Given the description of an element on the screen output the (x, y) to click on. 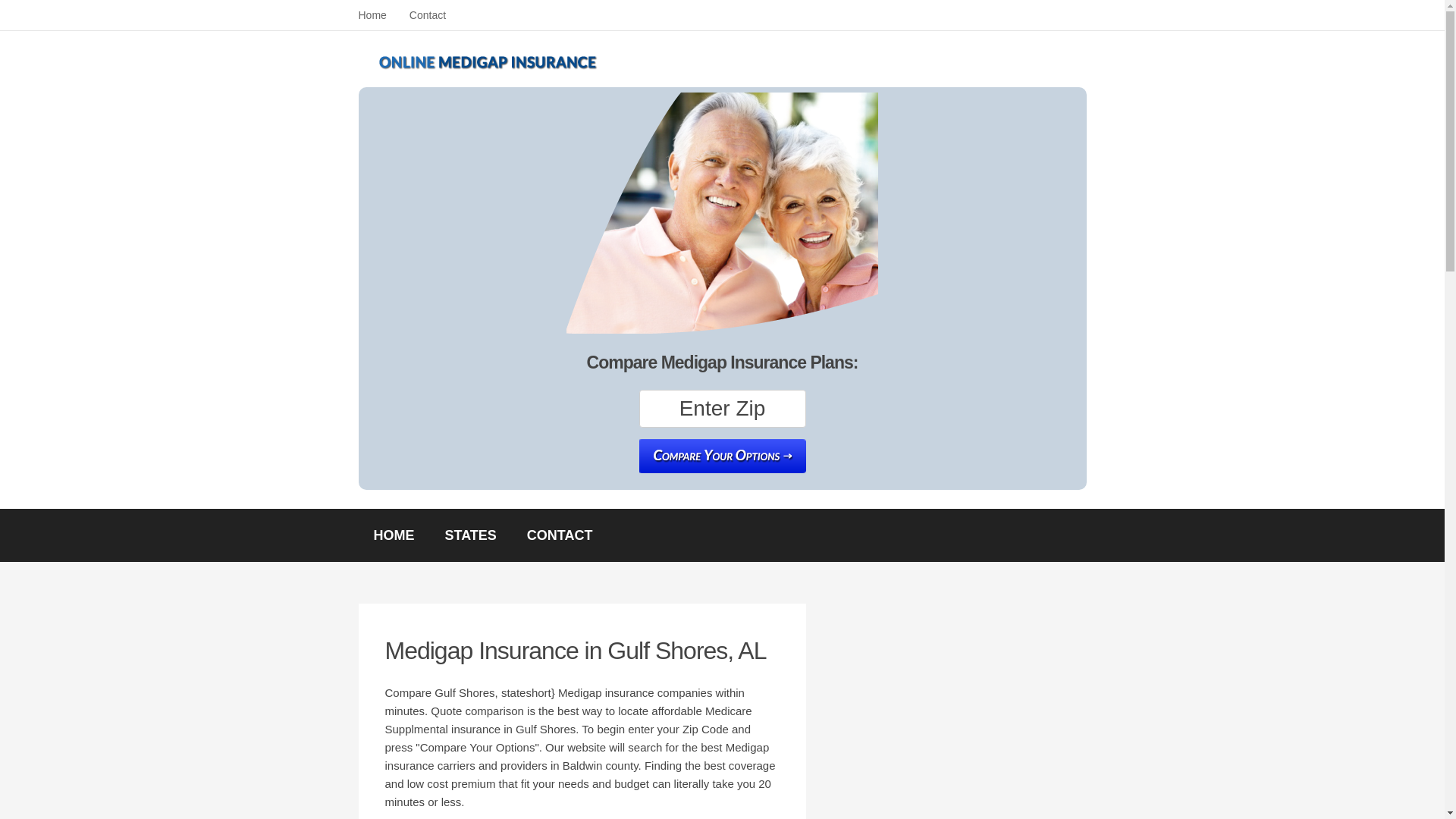
CONTACT (560, 534)
Home (371, 15)
HOME (393, 534)
Contact (427, 15)
Enter Zip (722, 408)
STATES (470, 534)
